Given the description of an element on the screen output the (x, y) to click on. 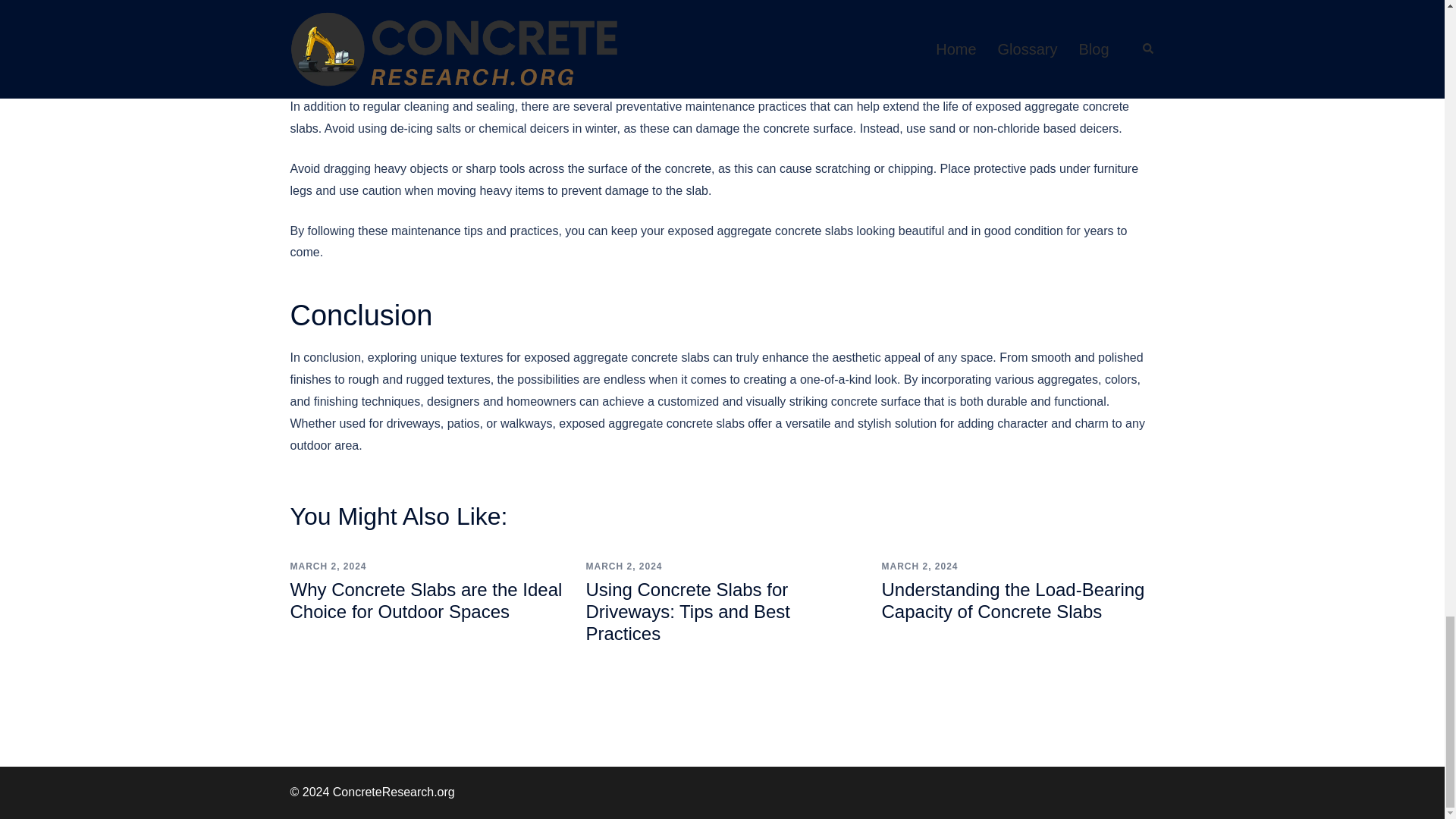
Using Concrete Slabs for Driveways: Tips and Best Practices (687, 611)
MARCH 2, 2024 (919, 566)
Understanding the Load-Bearing Capacity of Concrete Slabs (1012, 600)
MARCH 2, 2024 (327, 566)
Why Concrete Slabs are the Ideal Choice for Outdoor Spaces (425, 600)
MARCH 2, 2024 (623, 566)
